Given the description of an element on the screen output the (x, y) to click on. 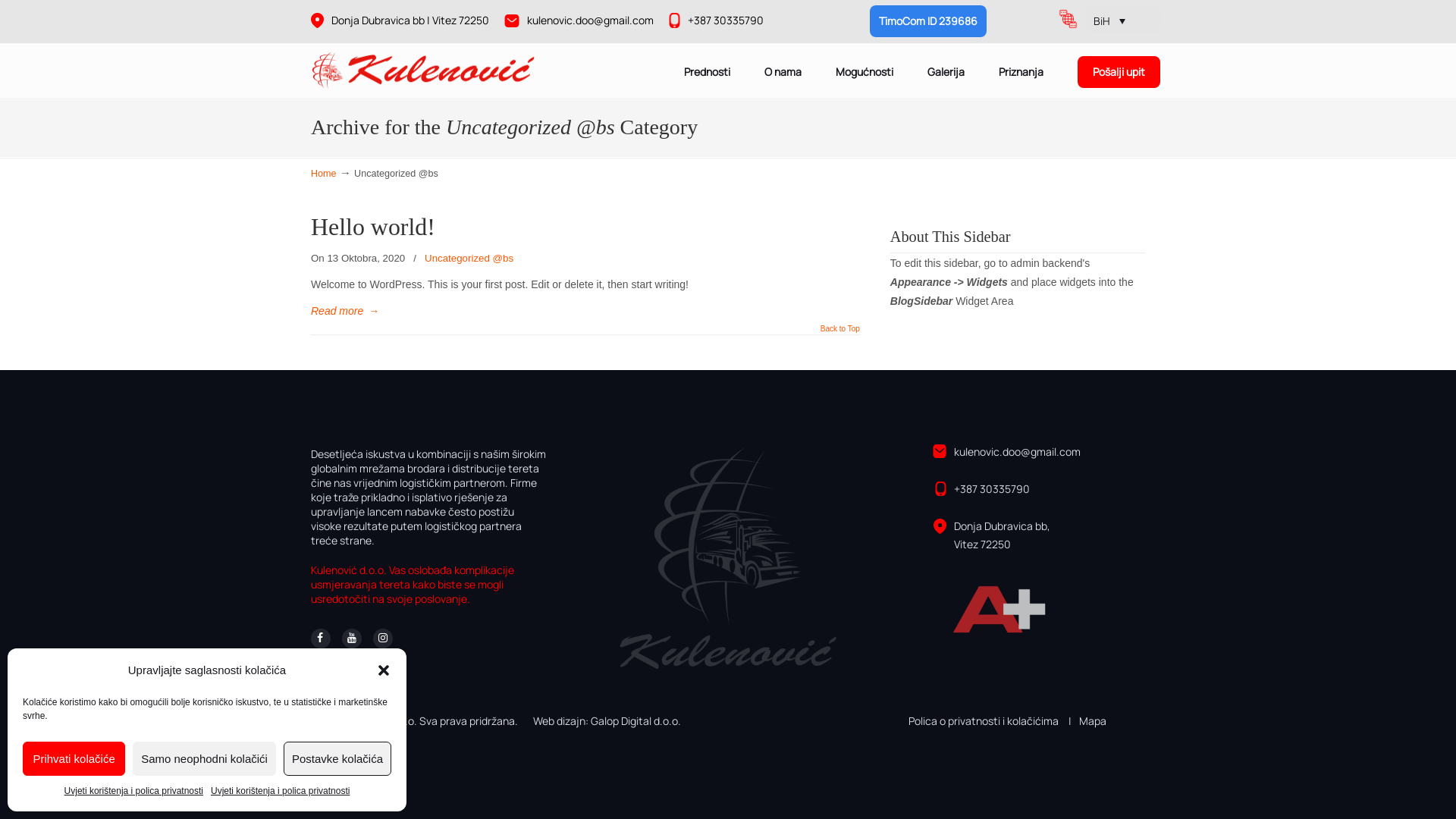
BiH Element type: text (1108, 20)
Uncategorized @bs Element type: text (468, 258)
TimoCom ID 239686 Element type: text (927, 20)
Priznanja Element type: text (1020, 71)
Prednosti Element type: text (706, 71)
Back to Top Element type: text (839, 332)
Mapa Element type: text (1087, 720)
Home Element type: text (323, 173)
Galop Digital d.o.o. Element type: text (635, 720)
O nama Element type: text (782, 71)
Hello world! Element type: text (372, 226)
Galerija Element type: text (945, 71)
